Given the description of an element on the screen output the (x, y) to click on. 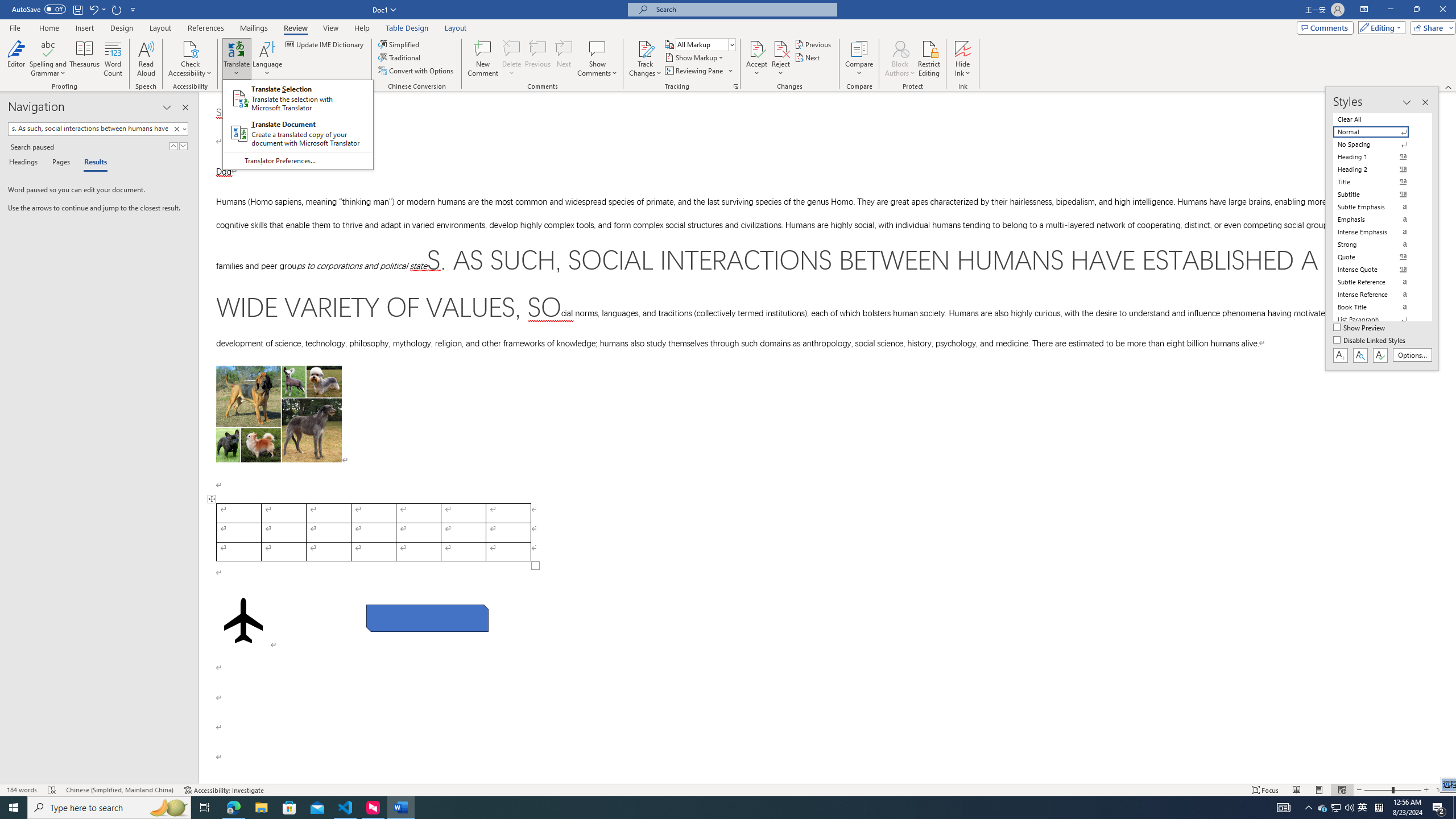
Intense Reference (1377, 294)
Task View (204, 807)
Rectangle: Diagonal Corners Snipped 2 (427, 618)
Spelling and Grammar (48, 58)
Read Aloud (145, 58)
Book Title (1377, 306)
Subtle Emphasis (1377, 206)
Next Result (183, 145)
Normal (1377, 131)
Action Center, 2 new notifications (1439, 807)
Convert with Options... (417, 69)
